Given the description of an element on the screen output the (x, y) to click on. 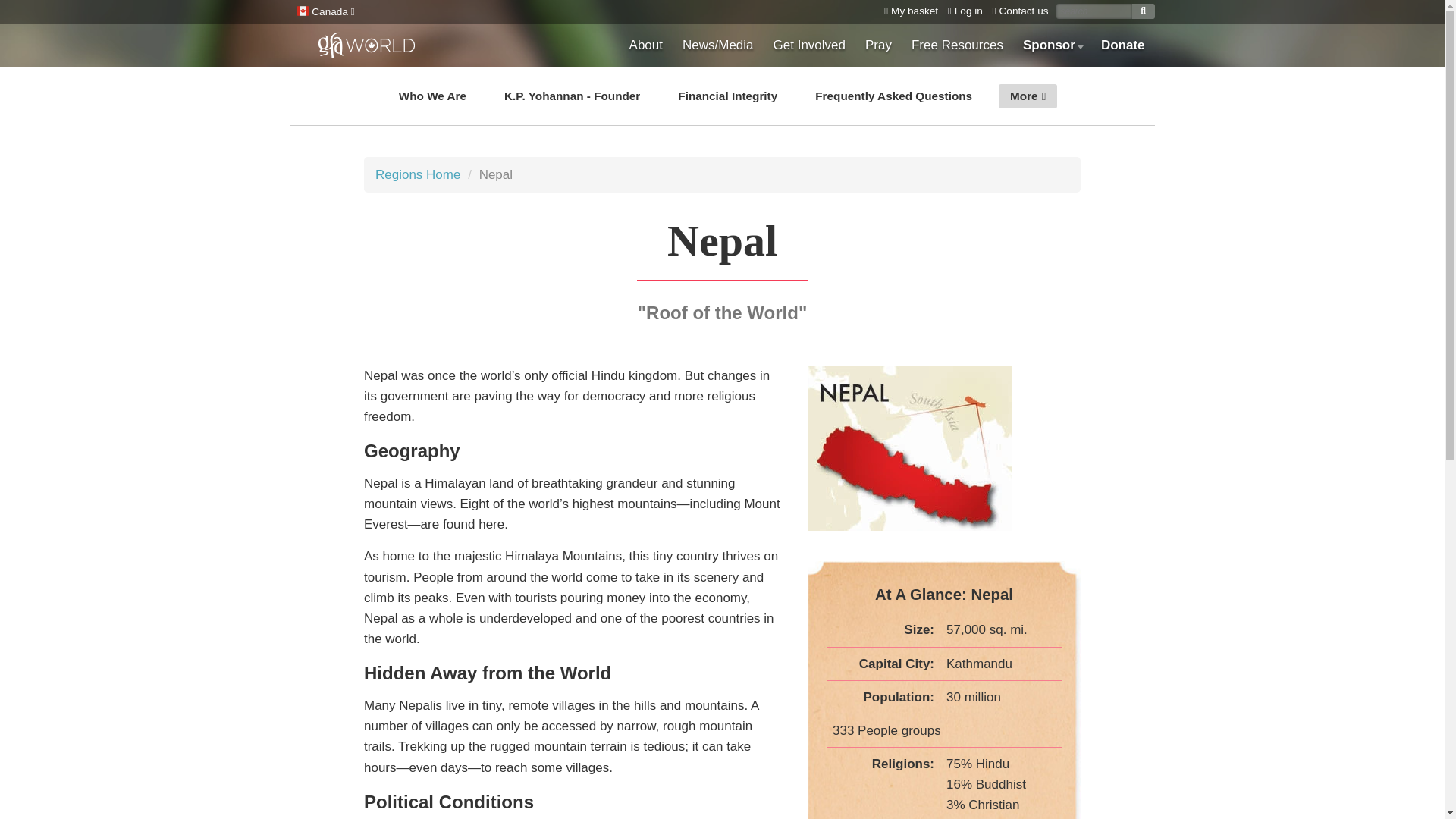
About (646, 45)
Contact us (1017, 10)
Sponsor (1051, 45)
Who We Are (432, 96)
Financial Integrity (727, 96)
My basket (907, 10)
K.P. Yohannan - Founder (571, 96)
Canada (322, 12)
Get Involved (809, 45)
Donate (1122, 45)
Pray (878, 45)
Log in (962, 10)
Frequently Asked Questions (893, 96)
Free Resources (957, 45)
